Given the description of an element on the screen output the (x, y) to click on. 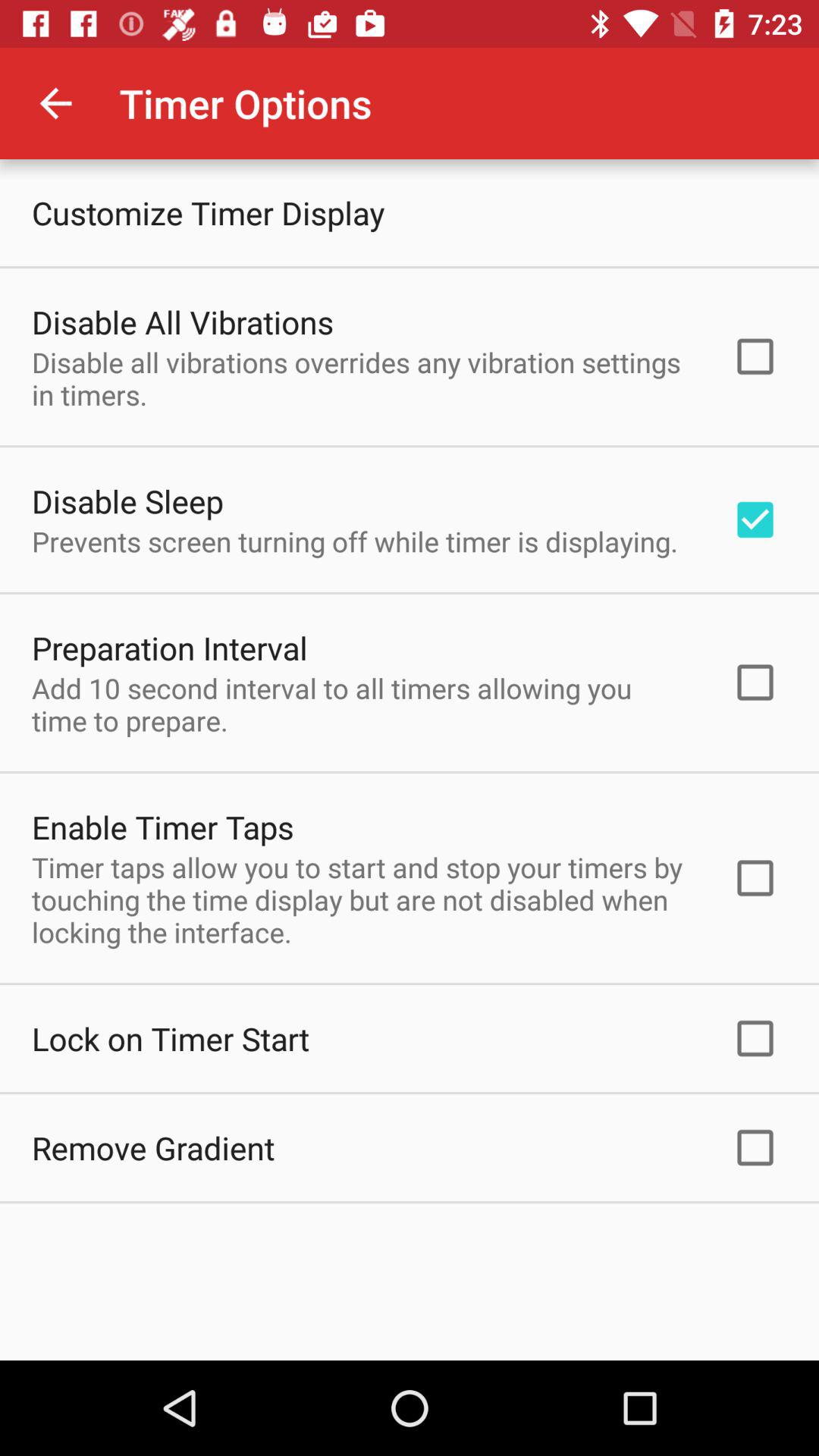
scroll until add 10 second icon (361, 704)
